Given the description of an element on the screen output the (x, y) to click on. 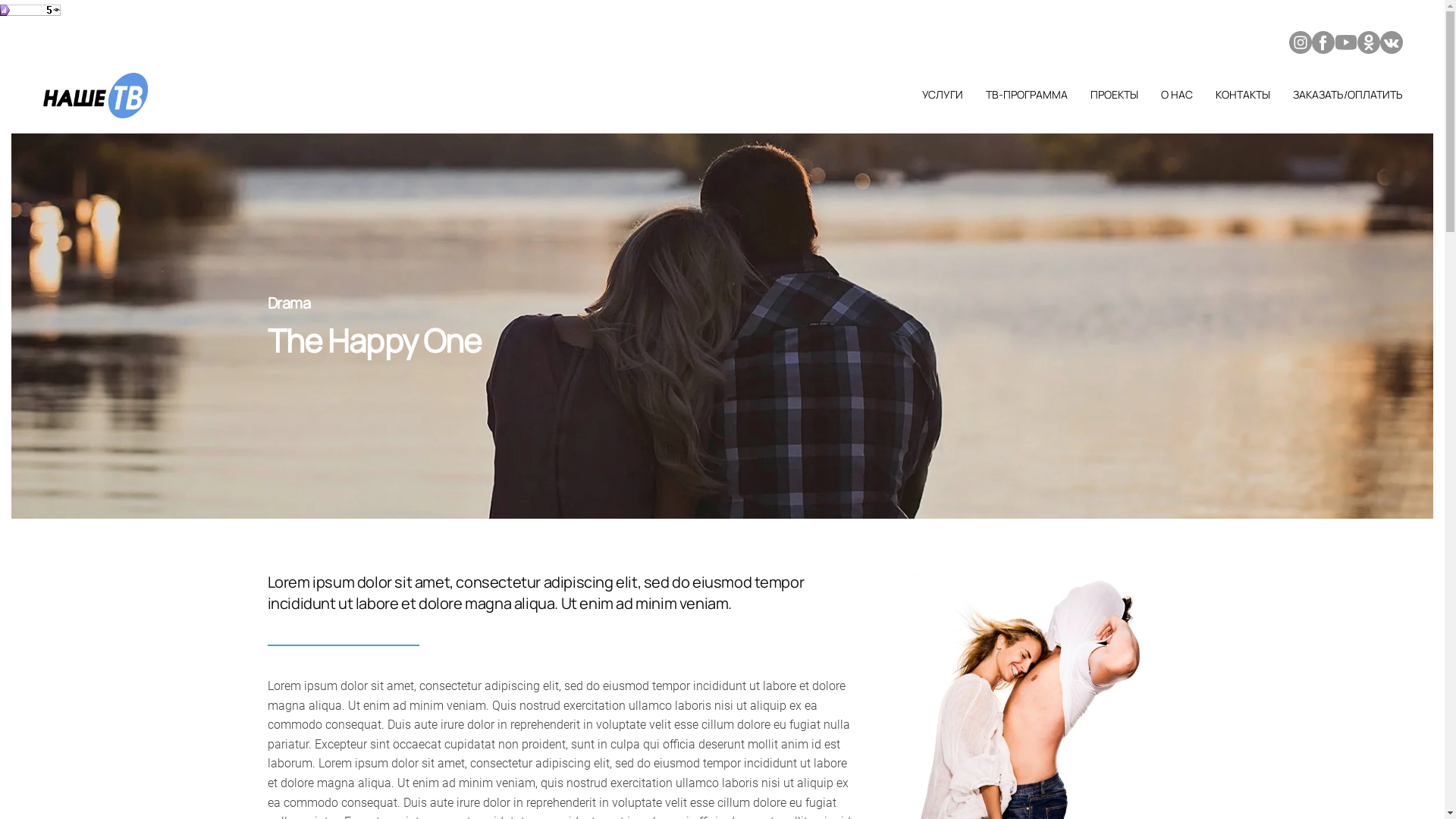
Drama Element type: text (288, 302)
